Given the description of an element on the screen output the (x, y) to click on. 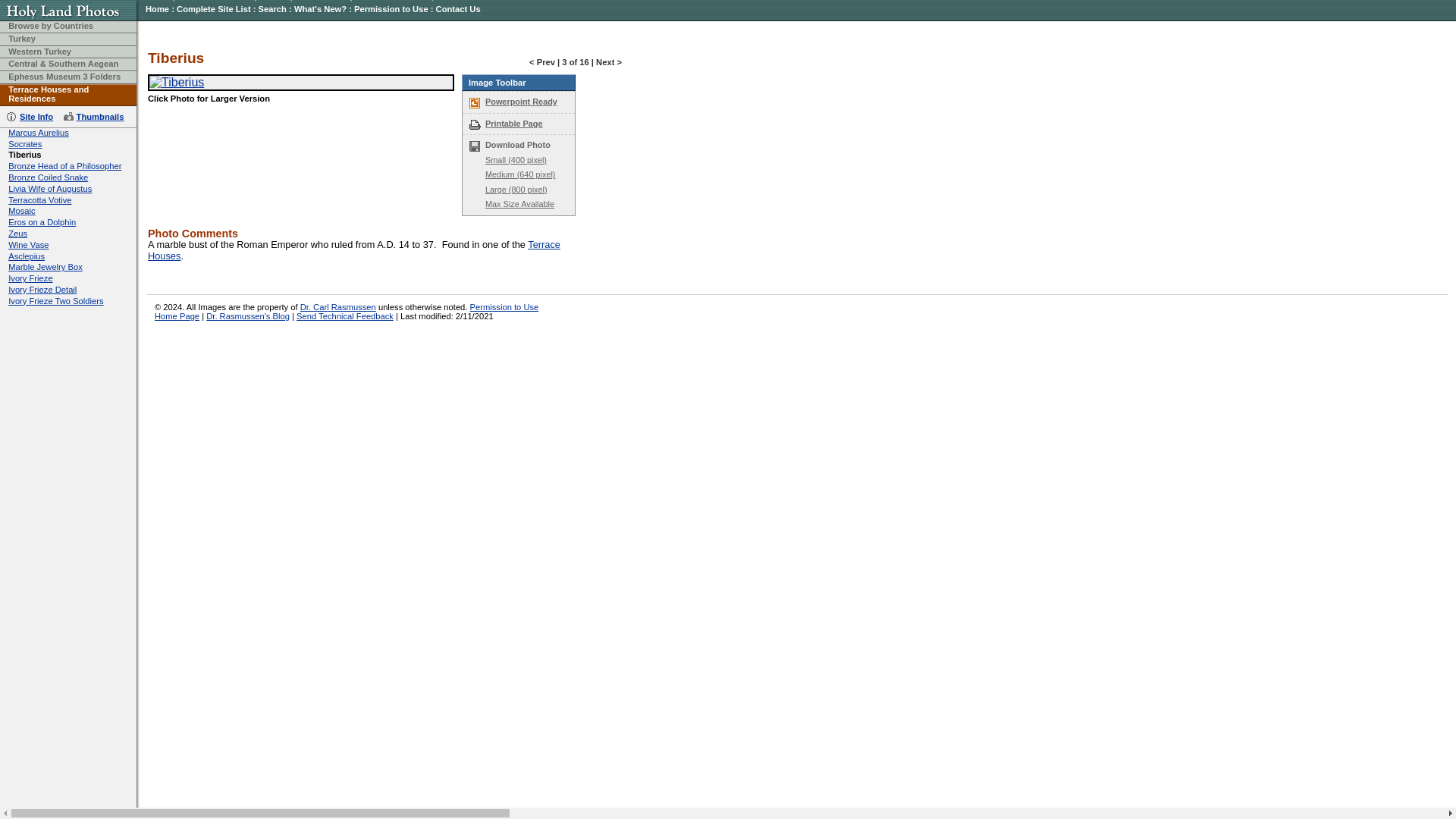
Home (156, 8)
Site Info (32, 116)
Permission to Use (390, 8)
Go to Home Page (69, 15)
Terrace Houses and Residences (48, 94)
Zeus (17, 233)
Asclepius (26, 256)
Turkey (21, 38)
Bronze Coiled Snake (47, 176)
Eros on a Dolphin (41, 221)
